Given the description of an element on the screen output the (x, y) to click on. 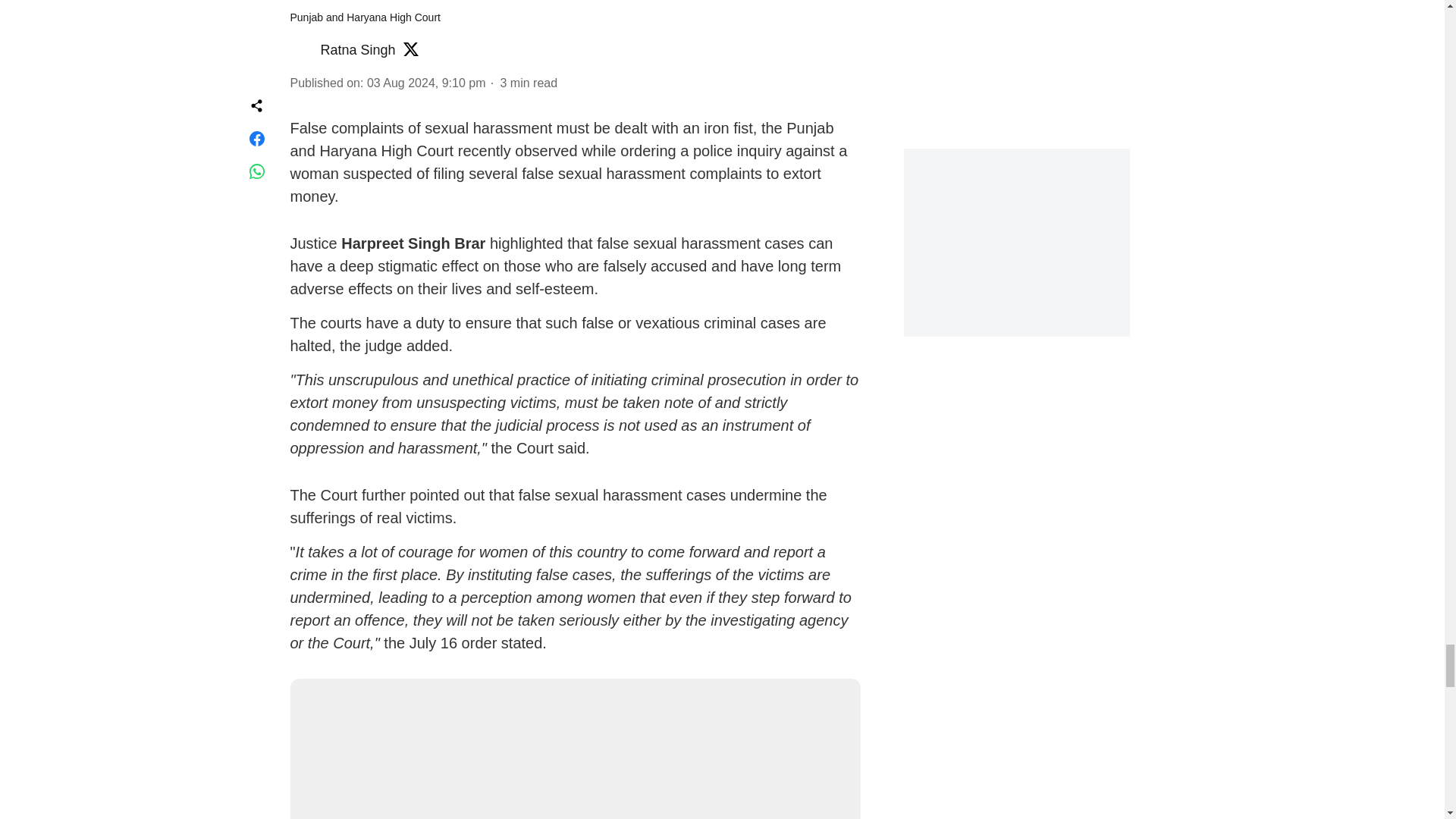
2024-08-03 13:10 (426, 82)
